Given the description of an element on the screen output the (x, y) to click on. 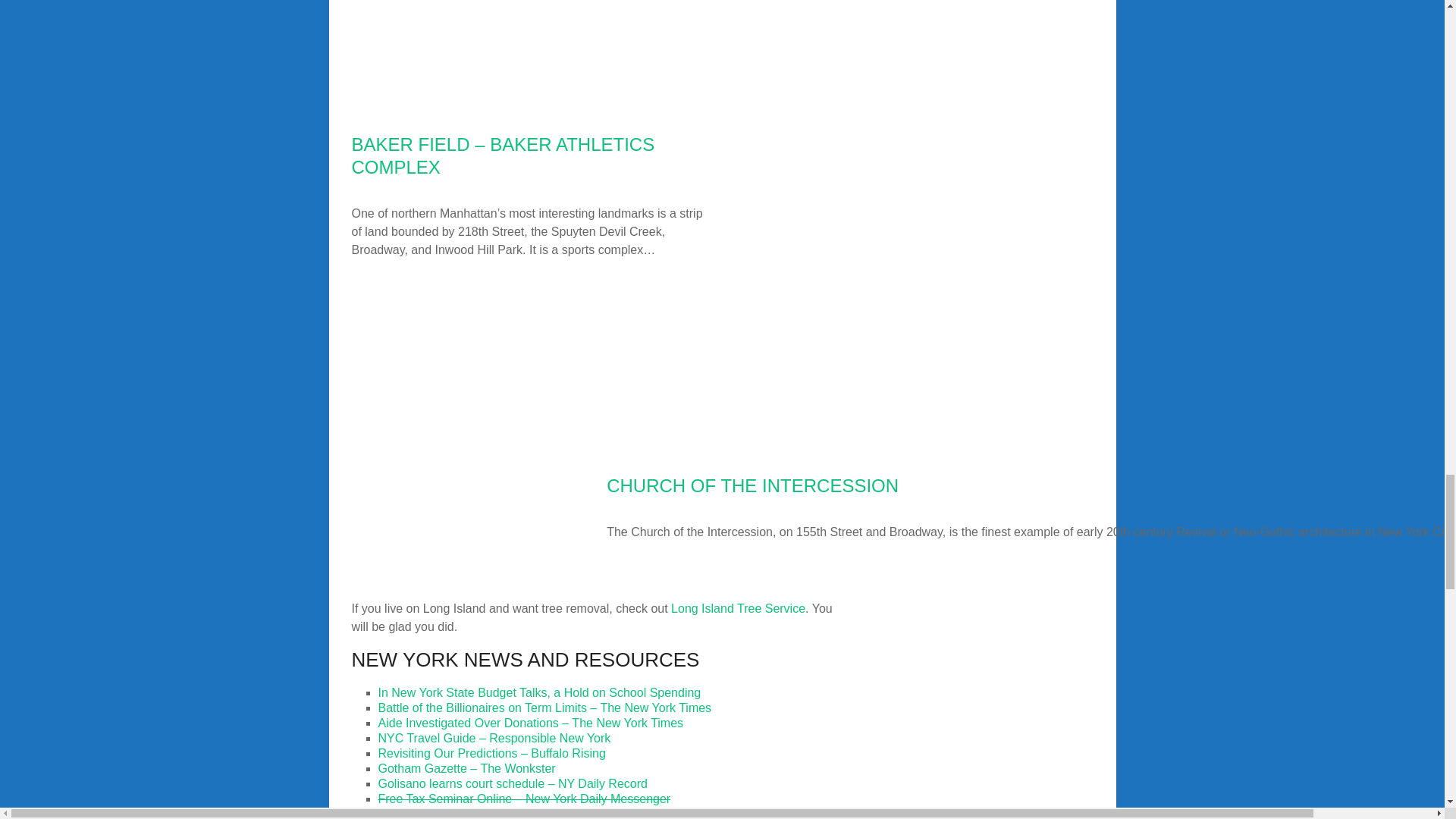
In New York State Budget Talks, a Hold on School Spending (538, 692)
Long Island Tree Service (738, 608)
CHURCH OF THE INTERCESSION (752, 485)
